Given the description of an element on the screen output the (x, y) to click on. 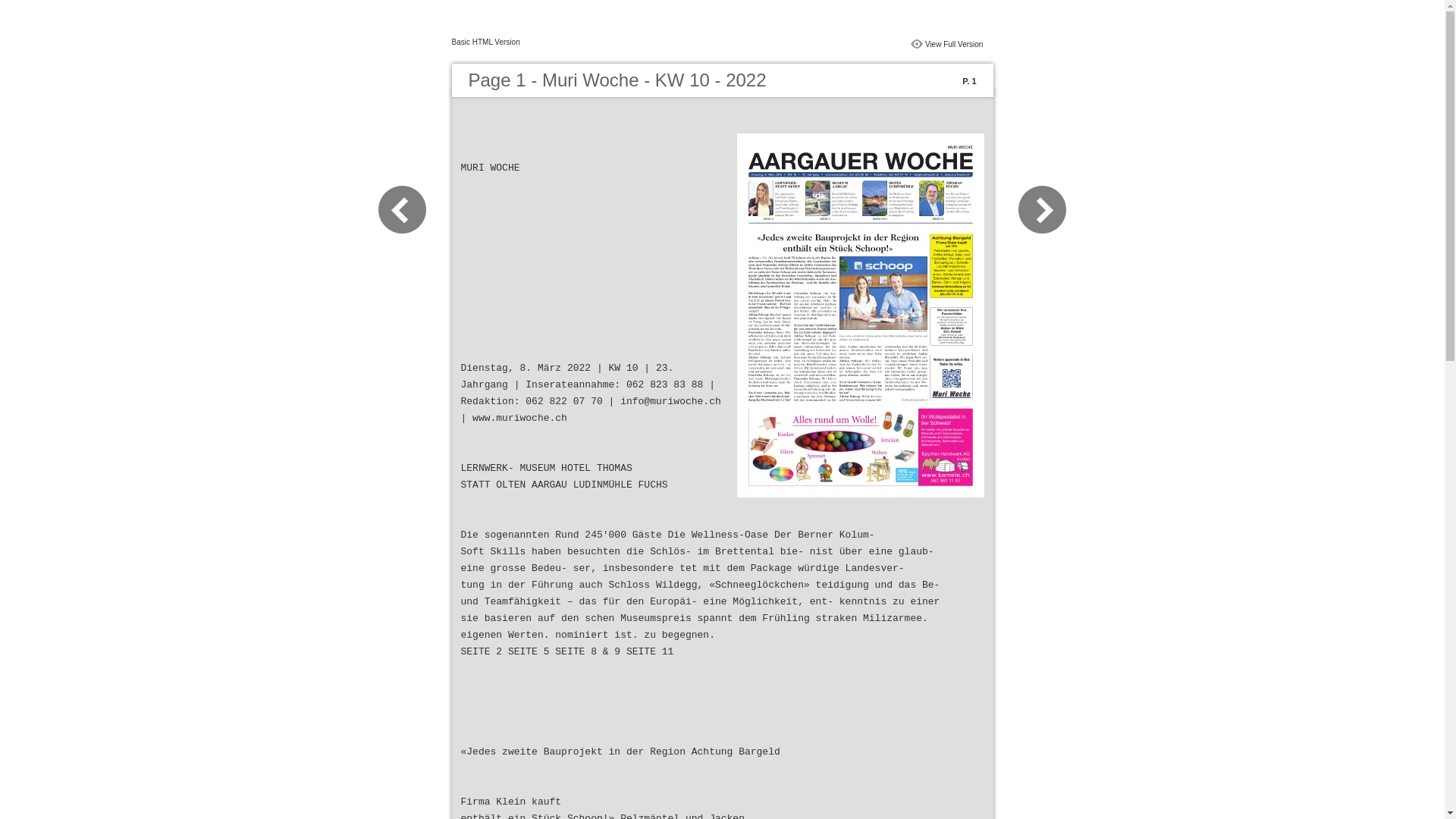
View Full Version Element type: text (954, 43)
